Given the description of an element on the screen output the (x, y) to click on. 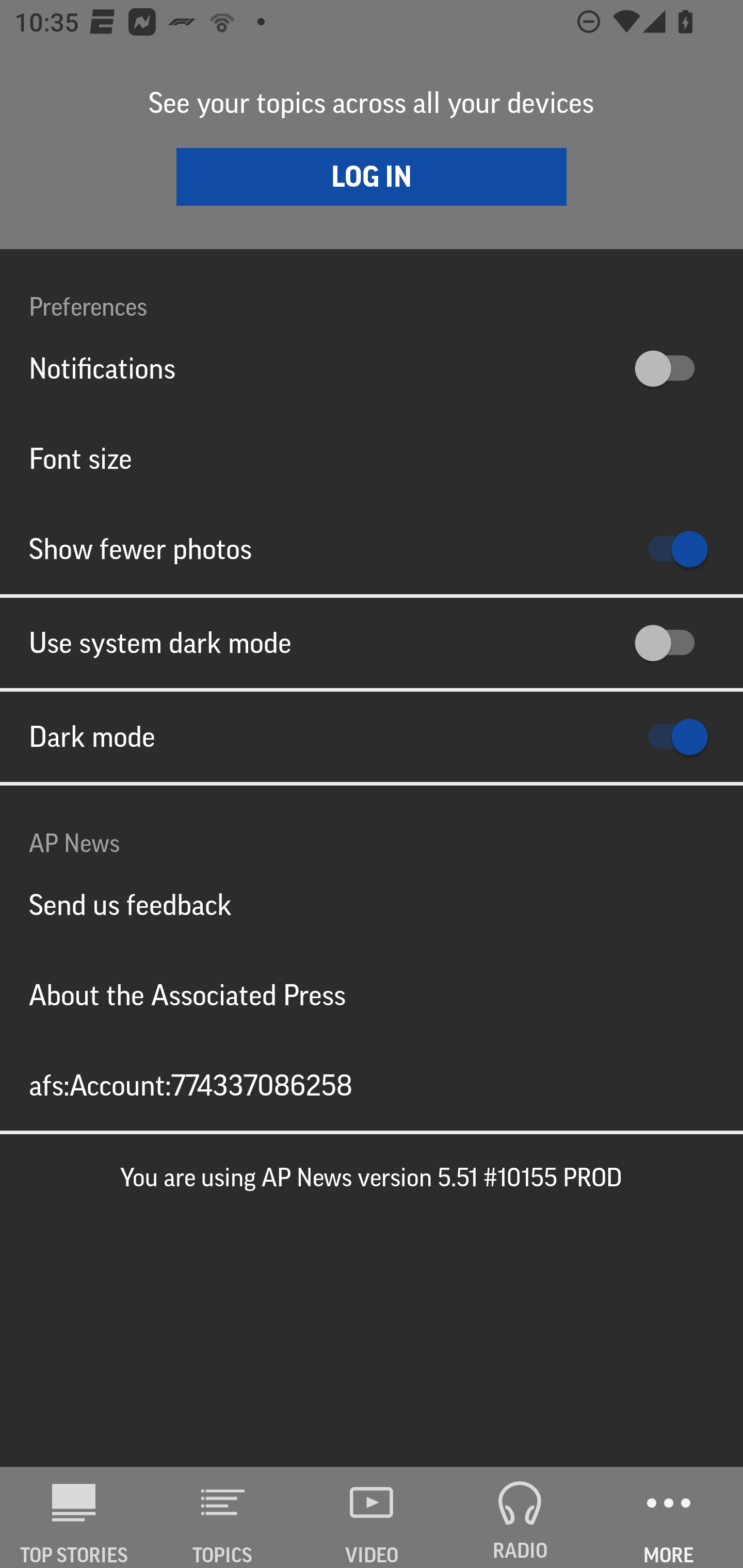
LOG IN (371, 176)
Notifications (371, 368)
Font size (371, 458)
Show fewer photos (371, 548)
Use system dark mode (371, 642)
Dark mode (371, 736)
Send us feedback (371, 904)
About the Associated Press (371, 994)
afs:Account:774337086258 (371, 1084)
AP News TOP STORIES (74, 1517)
TOPICS (222, 1517)
VIDEO (371, 1517)
RADIO (519, 1517)
MORE (668, 1517)
